Given the description of an element on the screen output the (x, y) to click on. 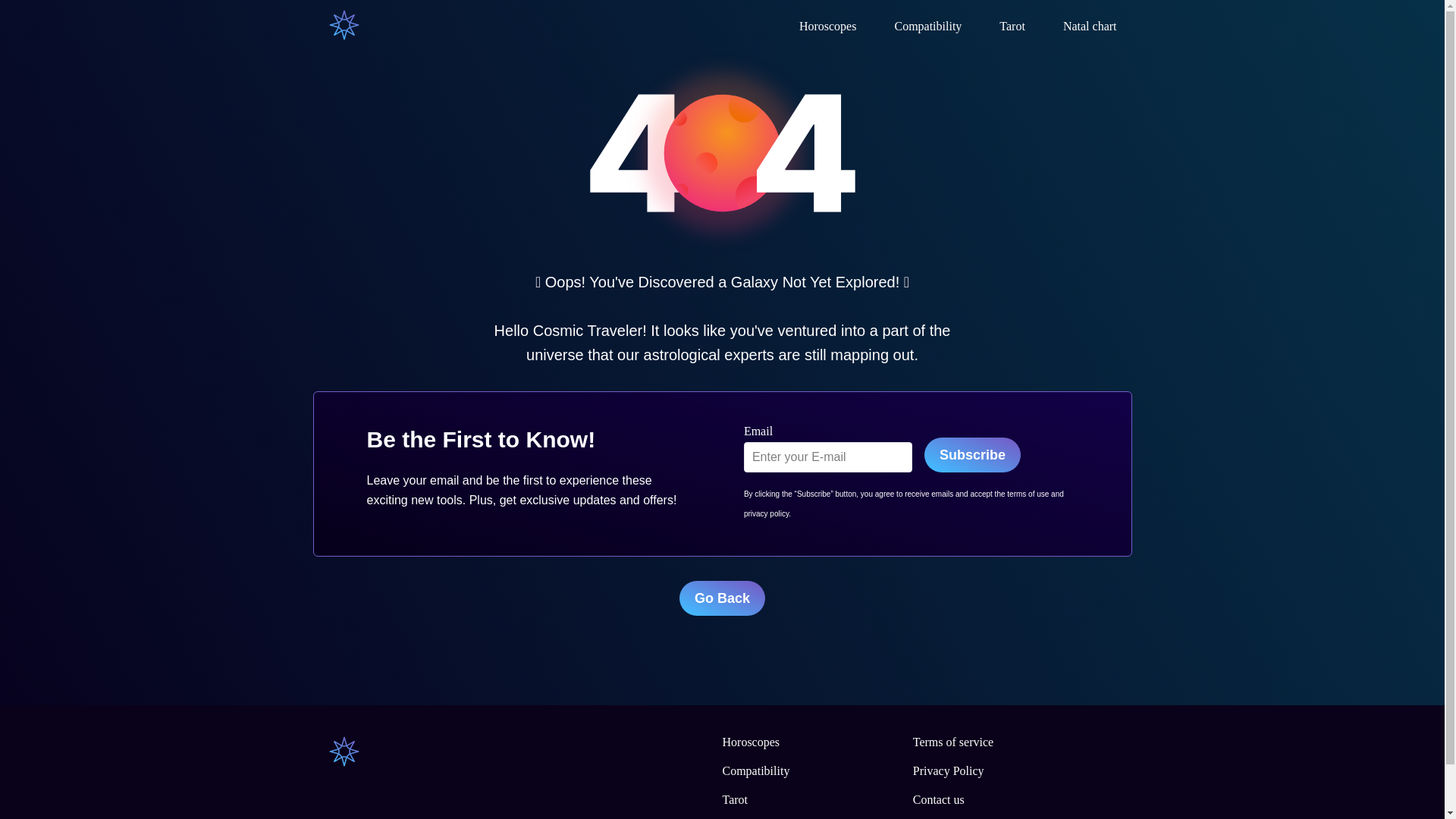
Go Back (722, 597)
Tarot (735, 799)
Contact us (937, 799)
Natal chart (1089, 26)
Horoscopes (750, 741)
Compatibility (926, 26)
Tarot (1011, 26)
Horoscopes (828, 26)
Privacy Policy (948, 770)
Terms of service (952, 741)
